Given the description of an element on the screen output the (x, y) to click on. 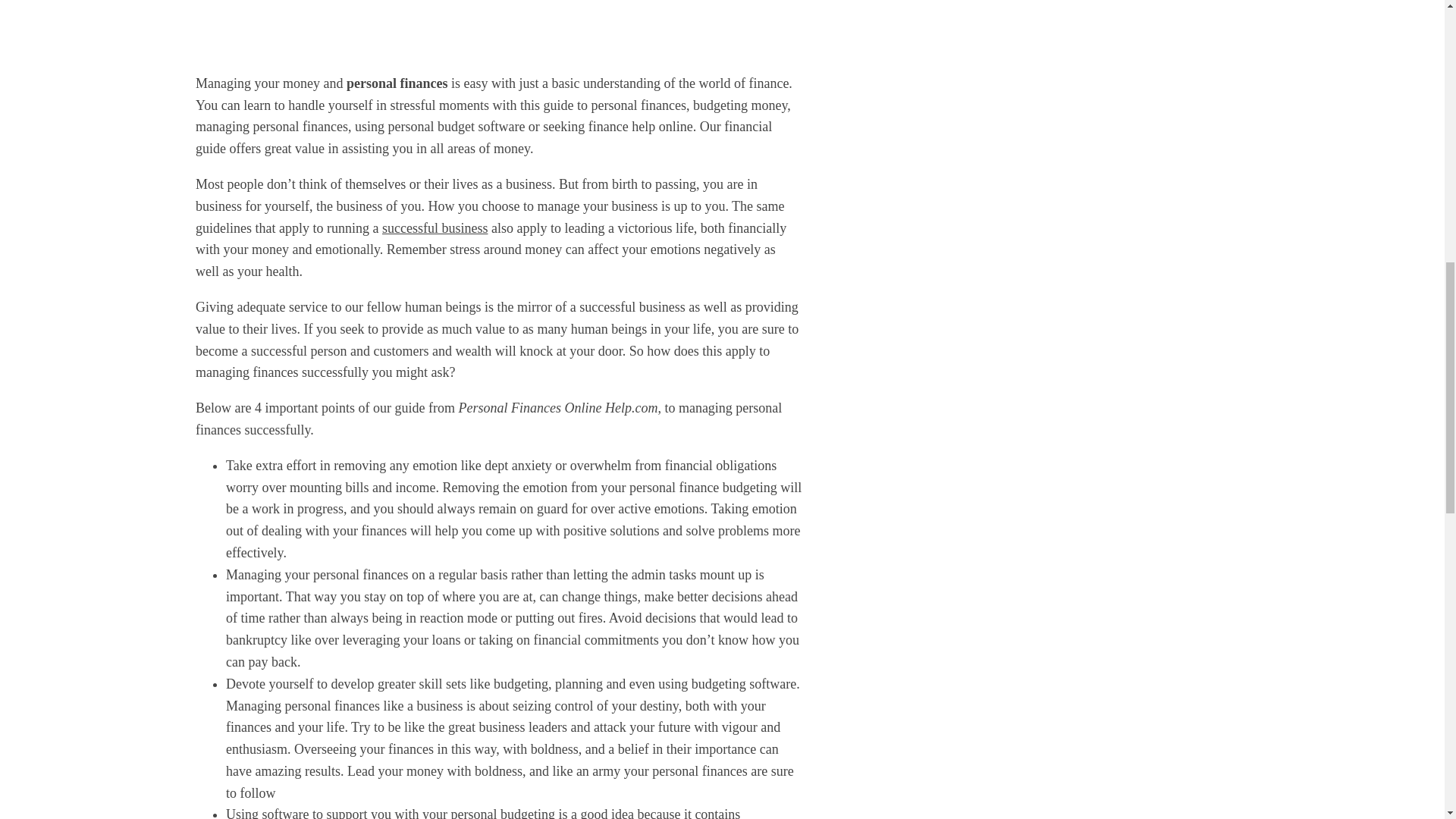
successful business (434, 227)
